Given the description of an element on the screen output the (x, y) to click on. 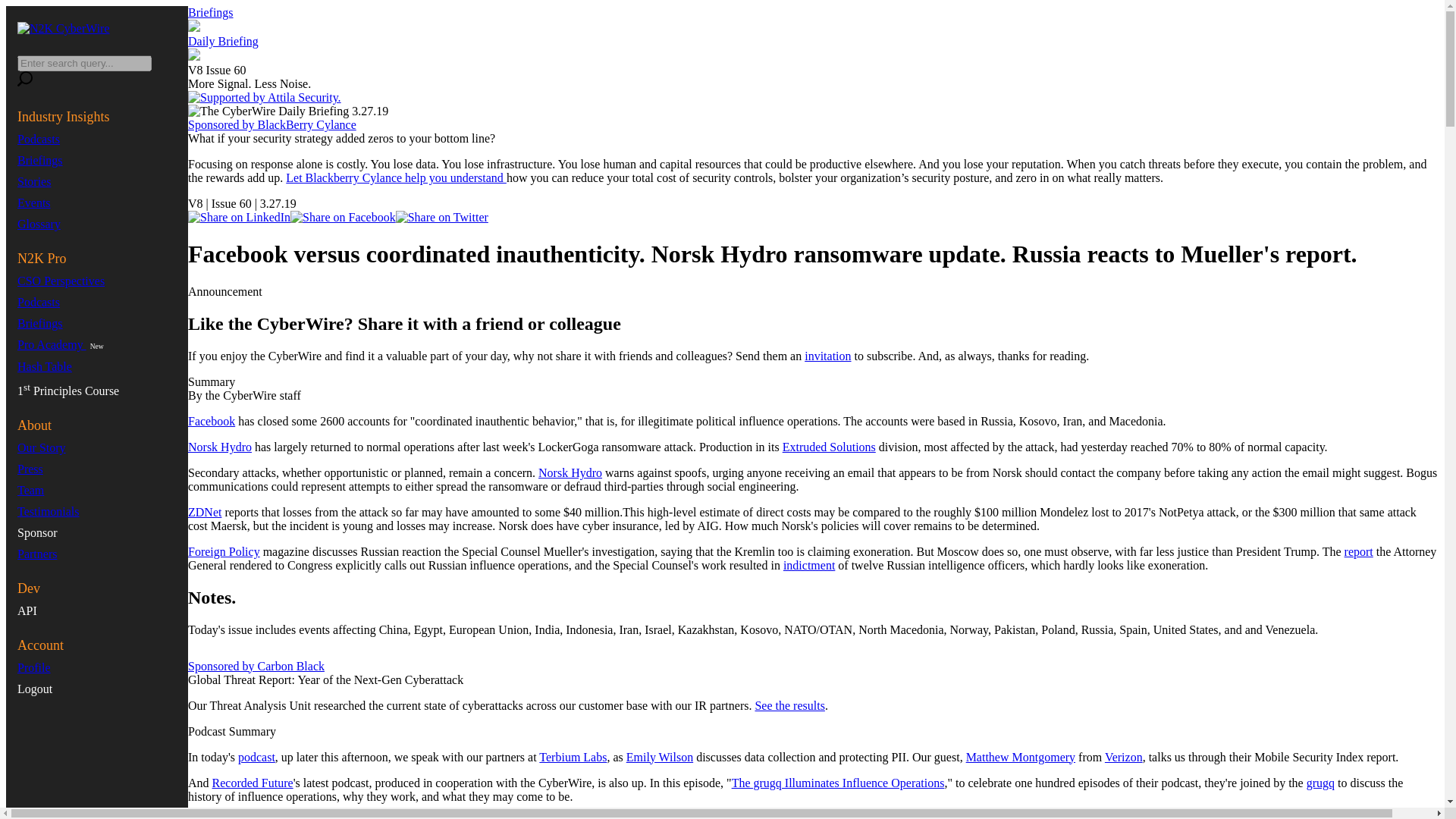
1st Principles Course (68, 390)
Sponsor (36, 532)
Pro Academy New (62, 344)
Search the site (24, 78)
Hash Table (44, 366)
Podcasts (38, 301)
Briefings (39, 323)
Glossary (39, 223)
CSO Perspectives (60, 280)
